Given the description of an element on the screen output the (x, y) to click on. 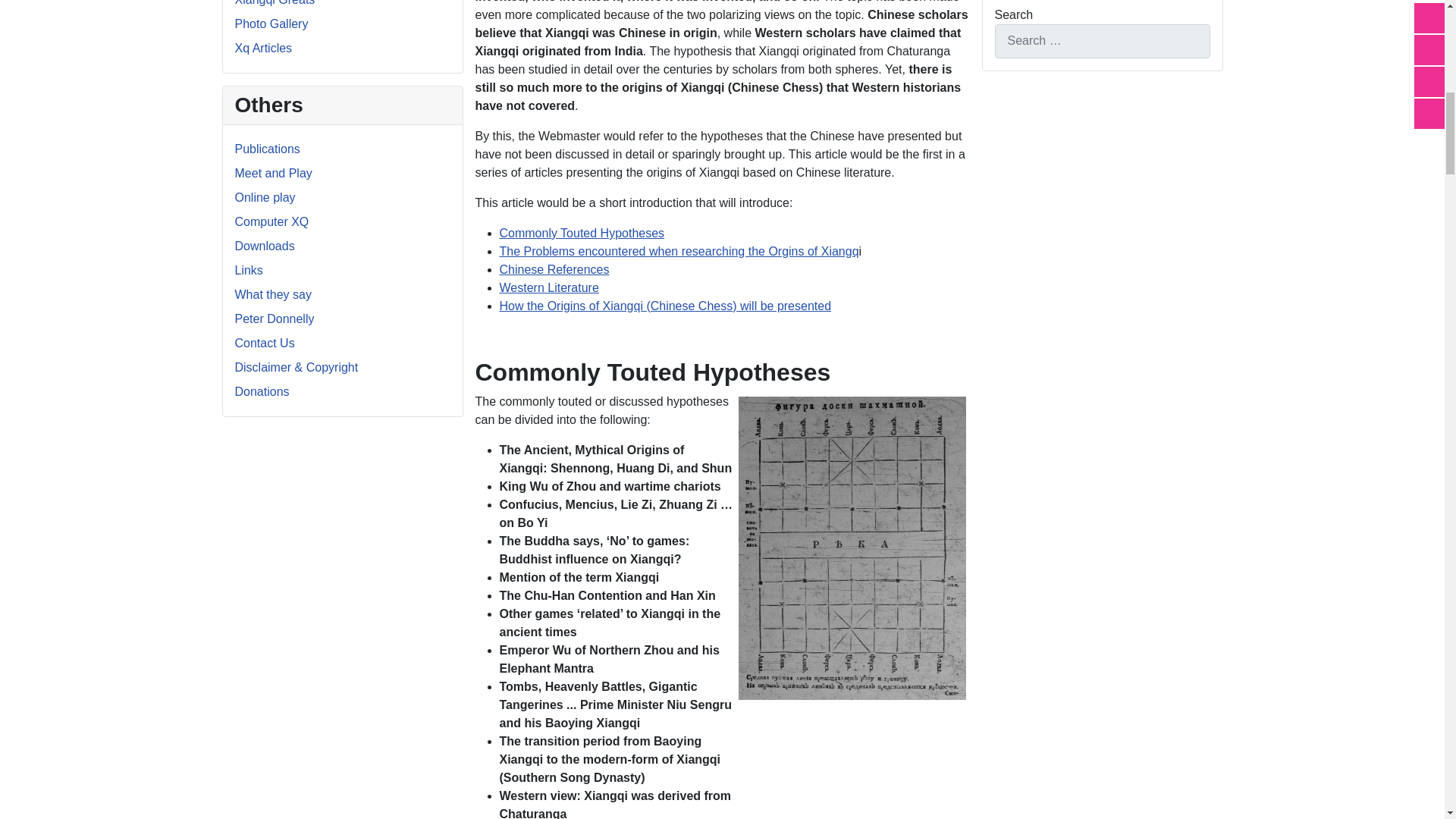
Downloads (264, 245)
Xq Articles (263, 47)
What they say (272, 294)
Peter Donnelly (274, 318)
Publications (266, 148)
Contact Us (264, 342)
Computer XQ (271, 221)
Photo Gallery (271, 23)
Xiangqi Greats (274, 2)
Western Literature (548, 287)
Online play (264, 196)
Commonly Touted Hypotheses (581, 232)
Links (248, 269)
Donations (261, 391)
Chinese References (553, 269)
